Given the description of an element on the screen output the (x, y) to click on. 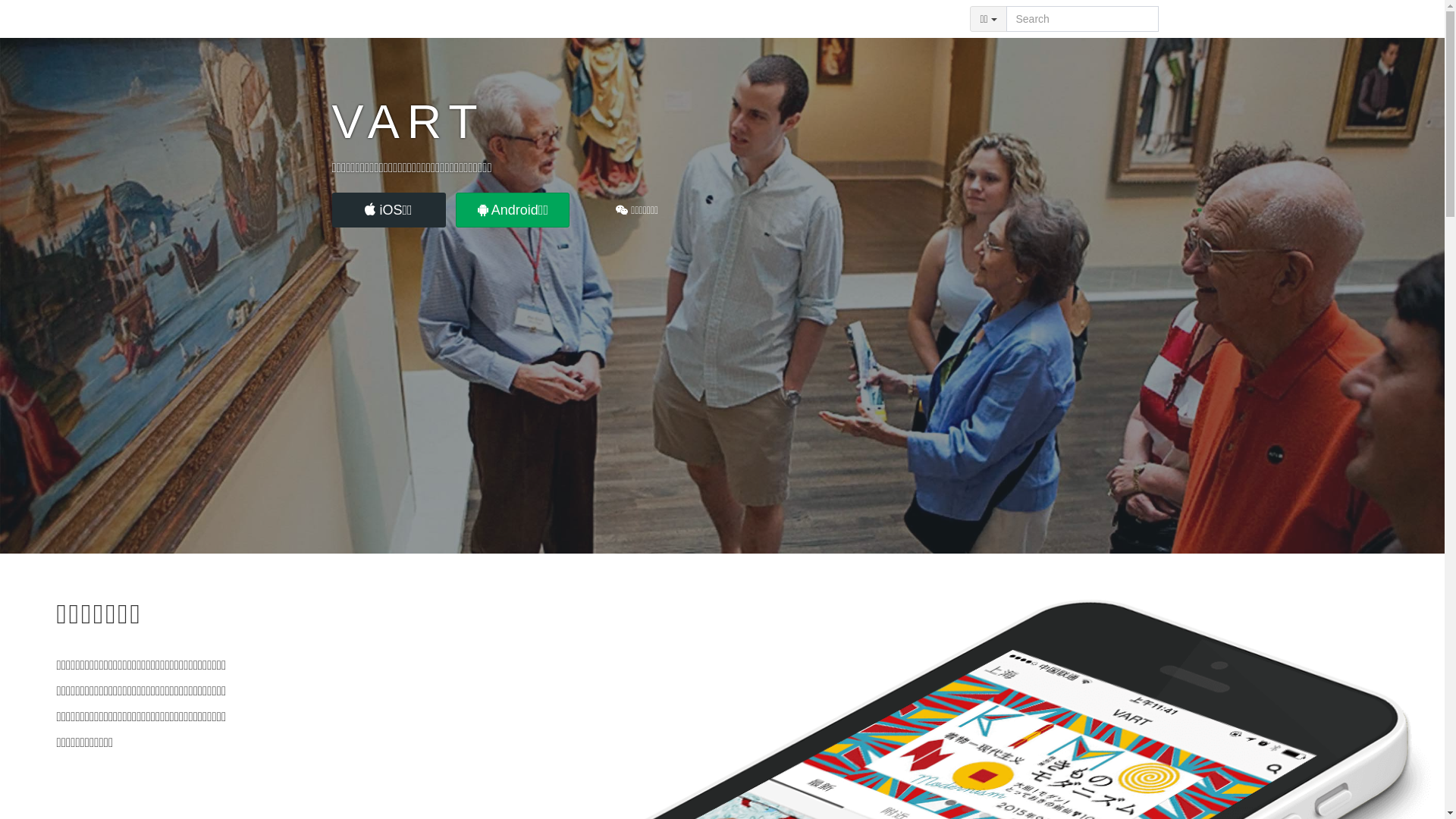
EN Element type: text (939, 18)
VART Element type: text (420, 18)
